Given the description of an element on the screen output the (x, y) to click on. 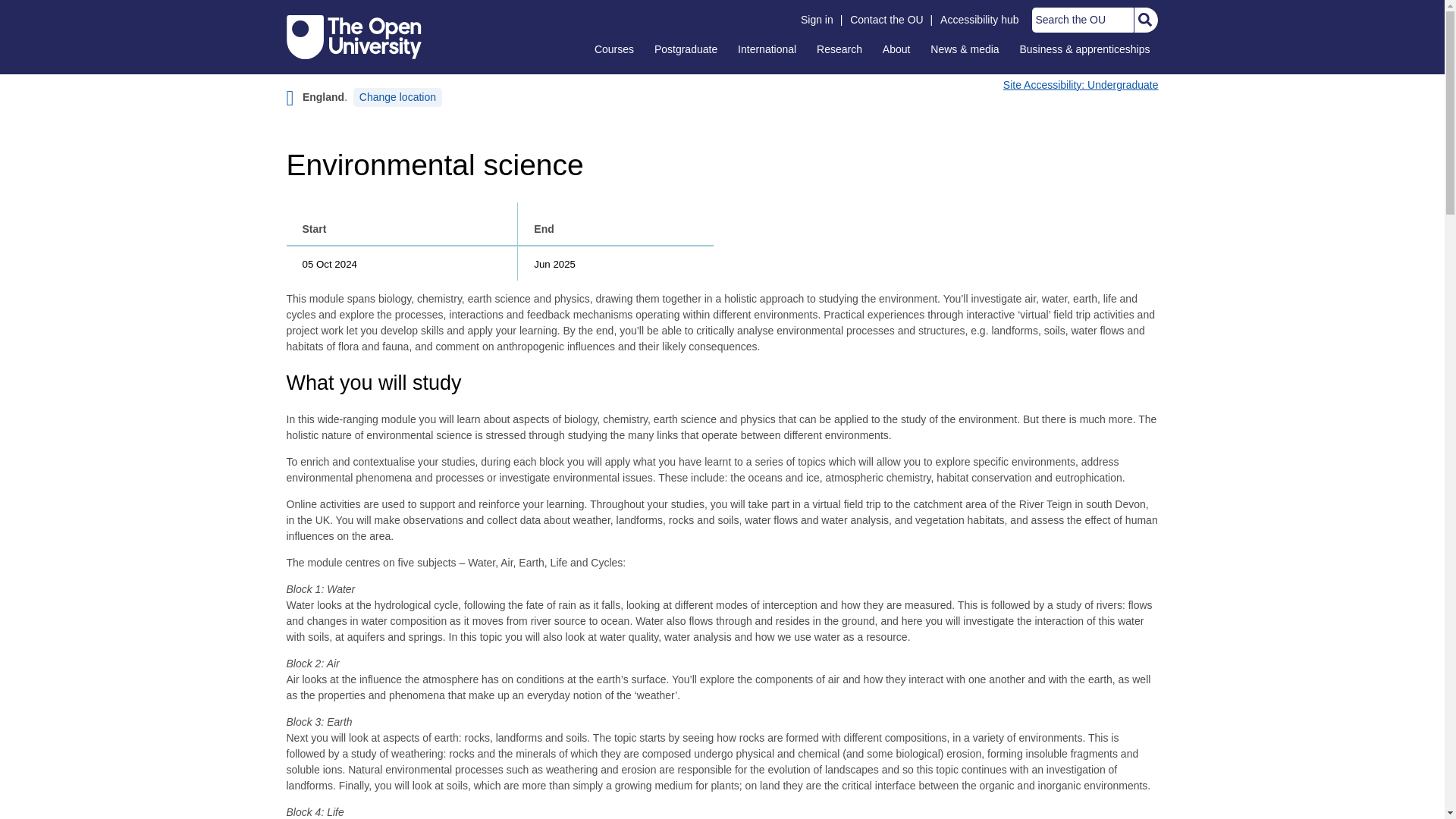
About (896, 49)
Research (839, 49)
Accessibility hub (979, 19)
Contact the OU (886, 19)
Postgraduate (685, 49)
The Open University (354, 36)
Search (1144, 19)
Search (1144, 19)
International (767, 49)
